Given the description of an element on the screen output the (x, y) to click on. 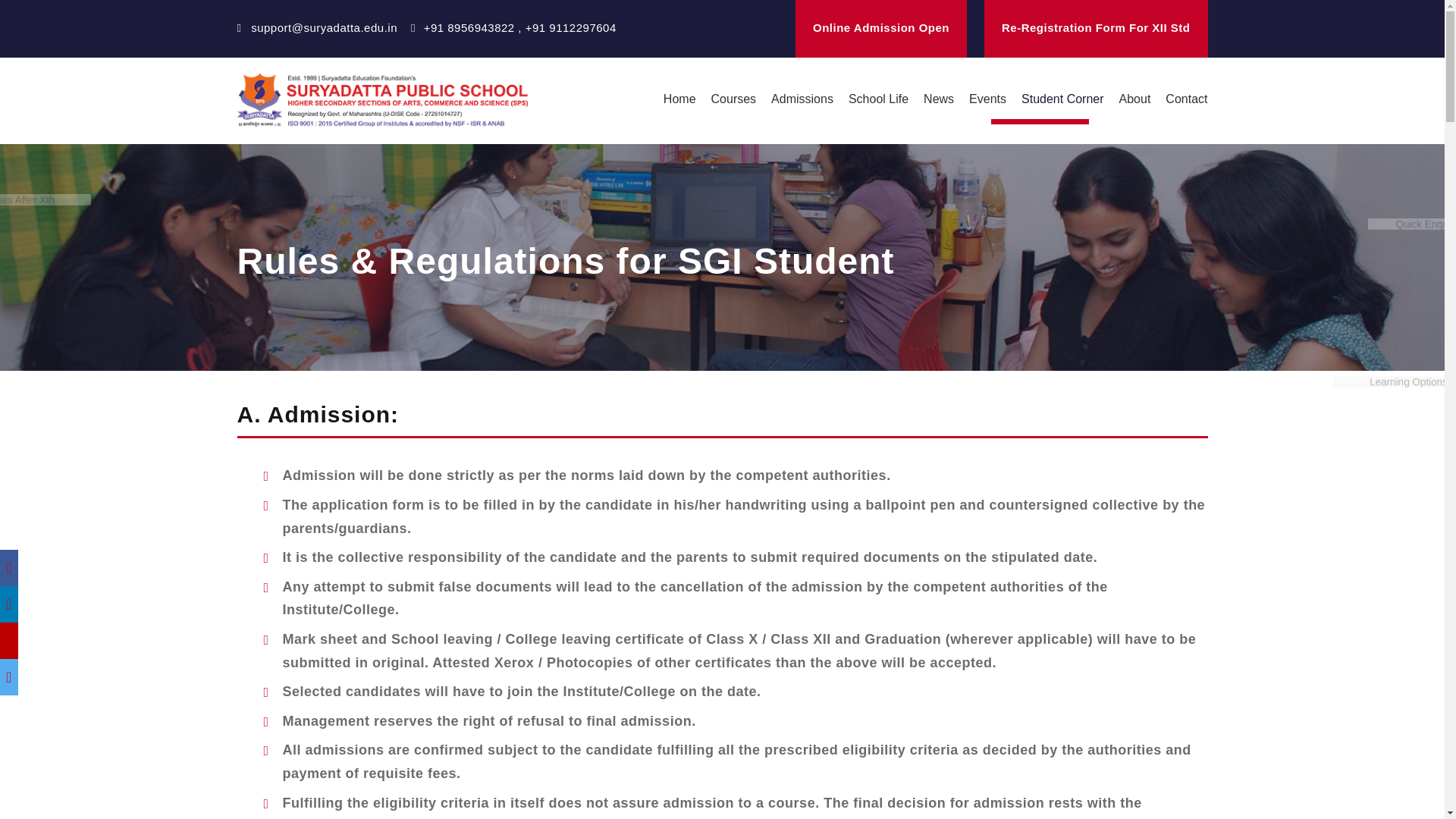
mainlogo (381, 100)
